Given the description of an element on the screen output the (x, y) to click on. 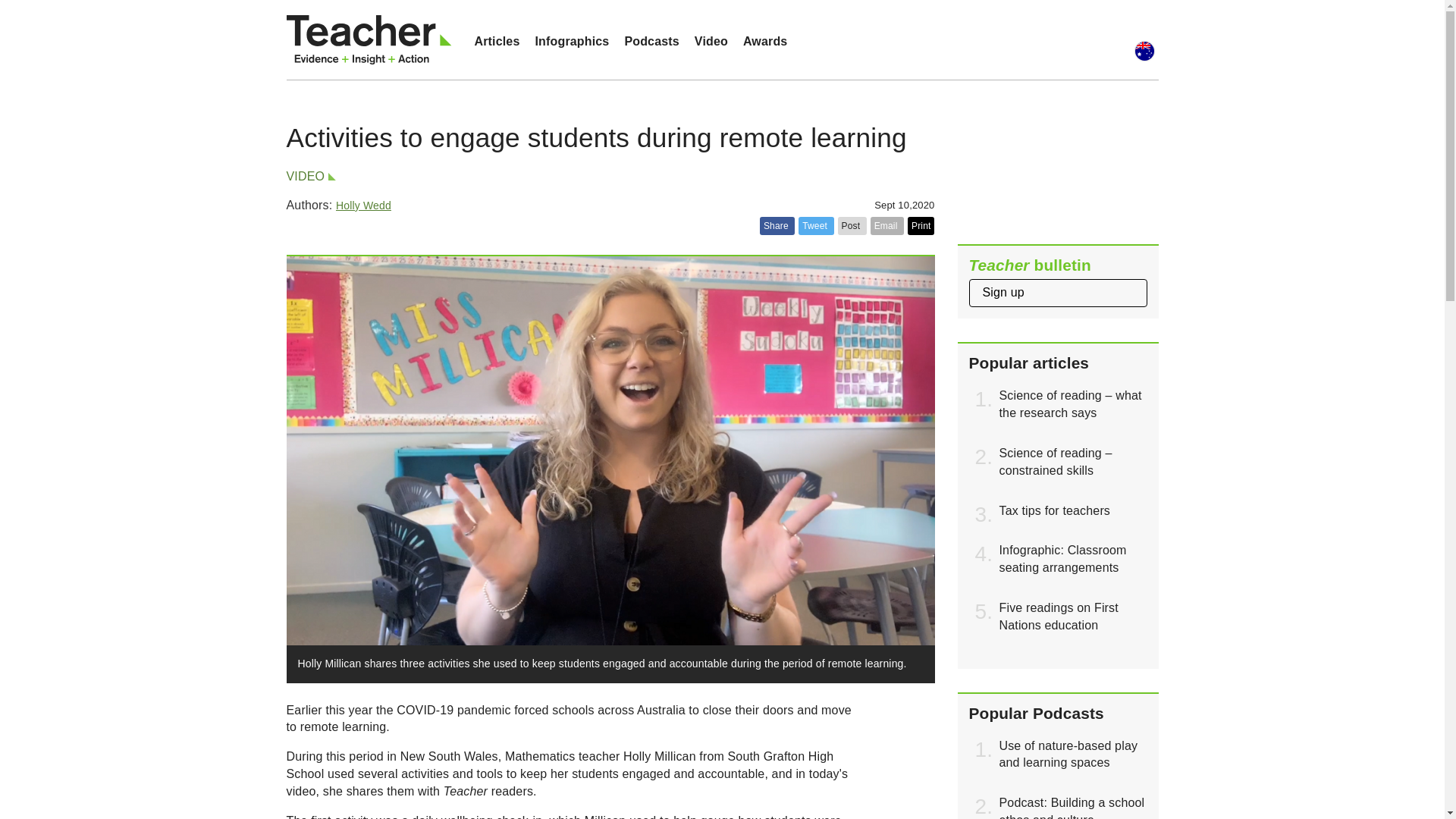
Sign up (1058, 293)
Share to twitter (814, 226)
Search (1122, 39)
Video (711, 41)
Infographics (571, 41)
Articles (497, 41)
Print (920, 226)
Tweet (814, 226)
Print (920, 226)
Podcasts (650, 41)
Awards (764, 41)
Share to facebook (777, 226)
VIDEO (309, 175)
Post (852, 226)
